Given the description of an element on the screen output the (x, y) to click on. 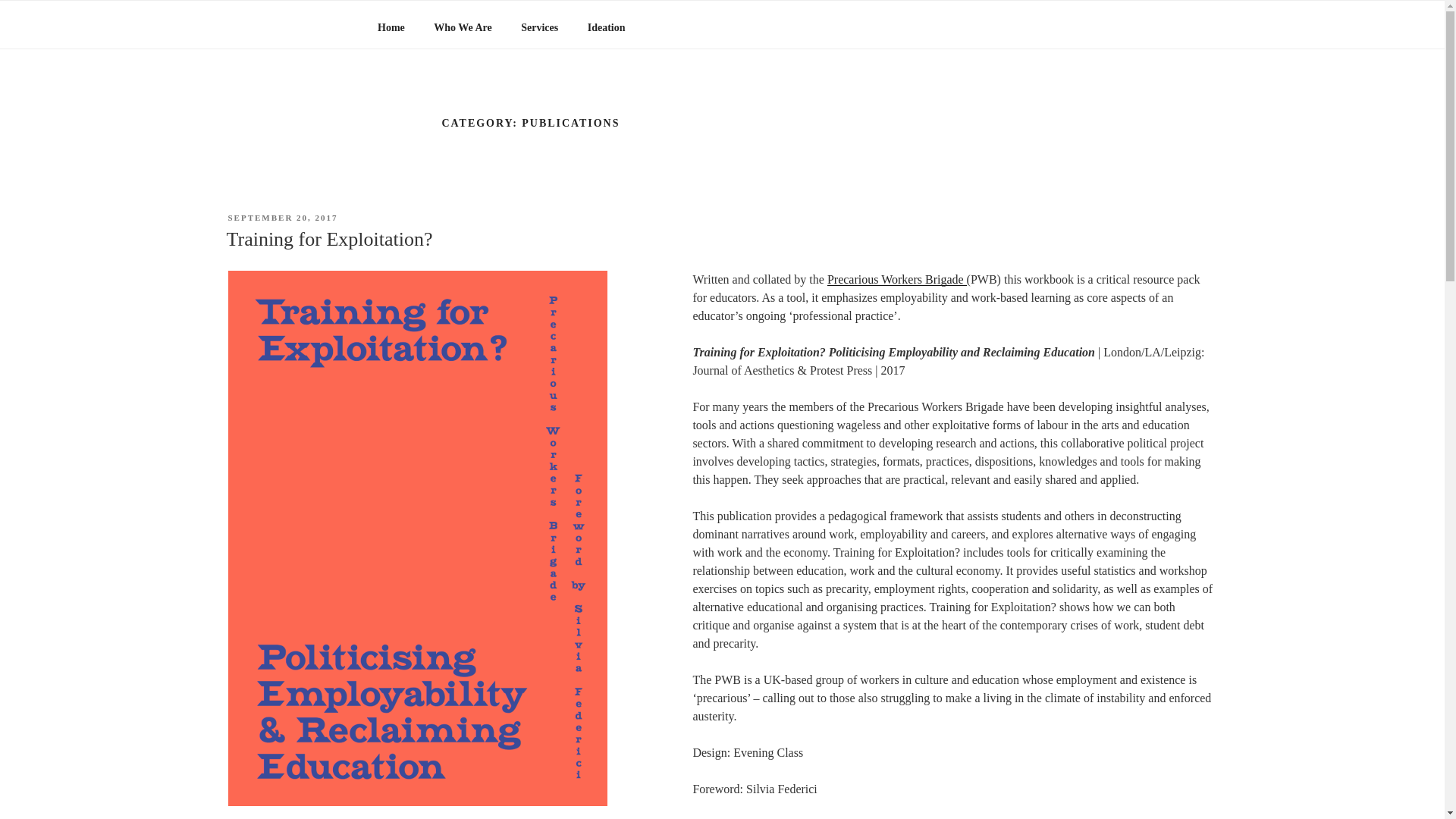
Training for Exploitation? (328, 239)
Home (390, 27)
SEPTEMBER 20, 2017 (282, 216)
Who We Are (462, 27)
Precarious Workers Brigade (896, 278)
Ideation (606, 27)
Services (540, 27)
